Given the description of an element on the screen output the (x, y) to click on. 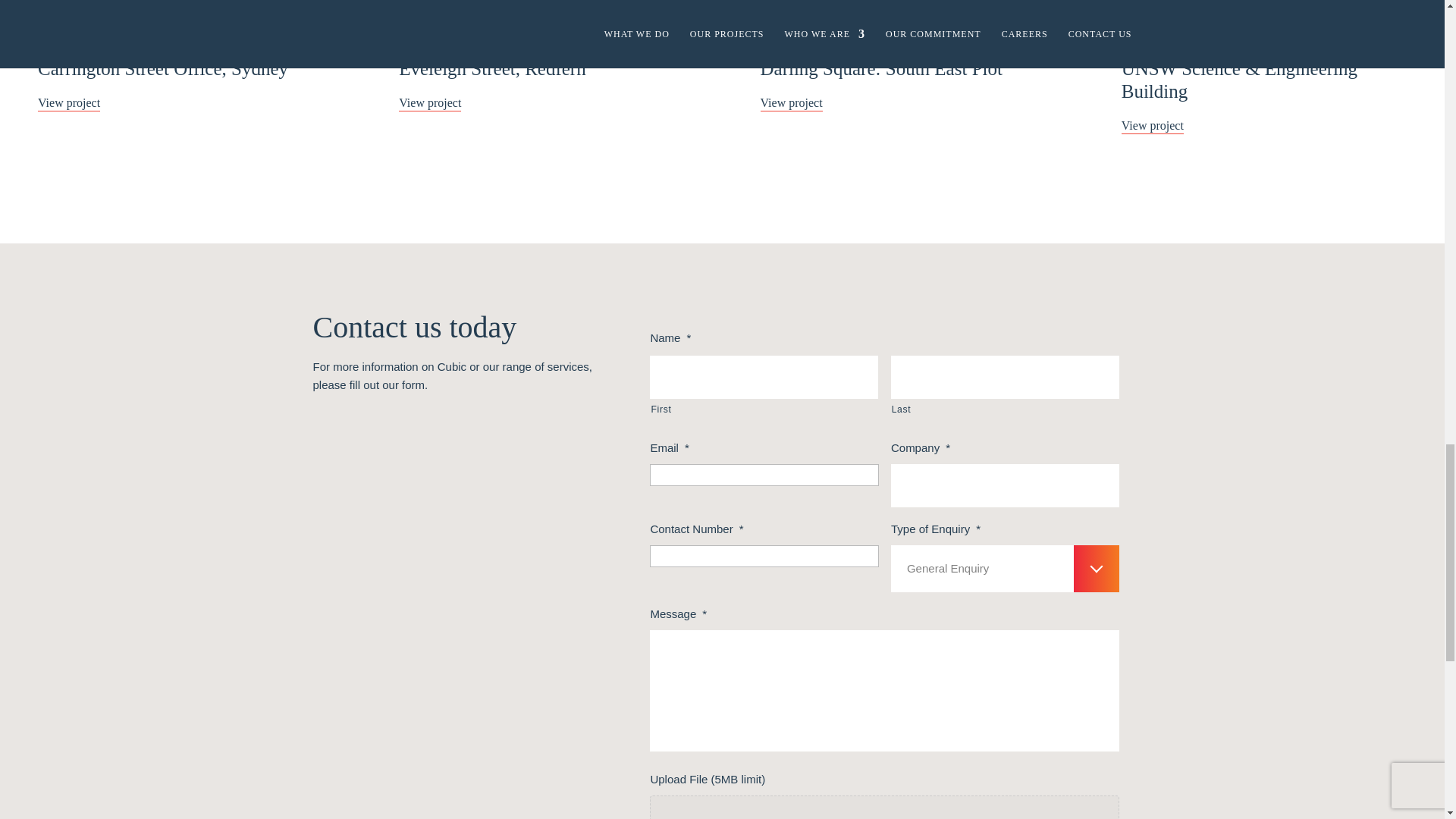
Carrington Street Office, Sydney (180, 17)
Darling Square: South East Plot (902, 84)
Eveleigh Street, Redfern (541, 17)
Carrington Street Office, Sydney (180, 84)
Carrington Street Office, Sydney (180, 84)
Darling Square: South East Plot (902, 17)
Eveleigh Street, Redfern (541, 84)
